Given the description of an element on the screen output the (x, y) to click on. 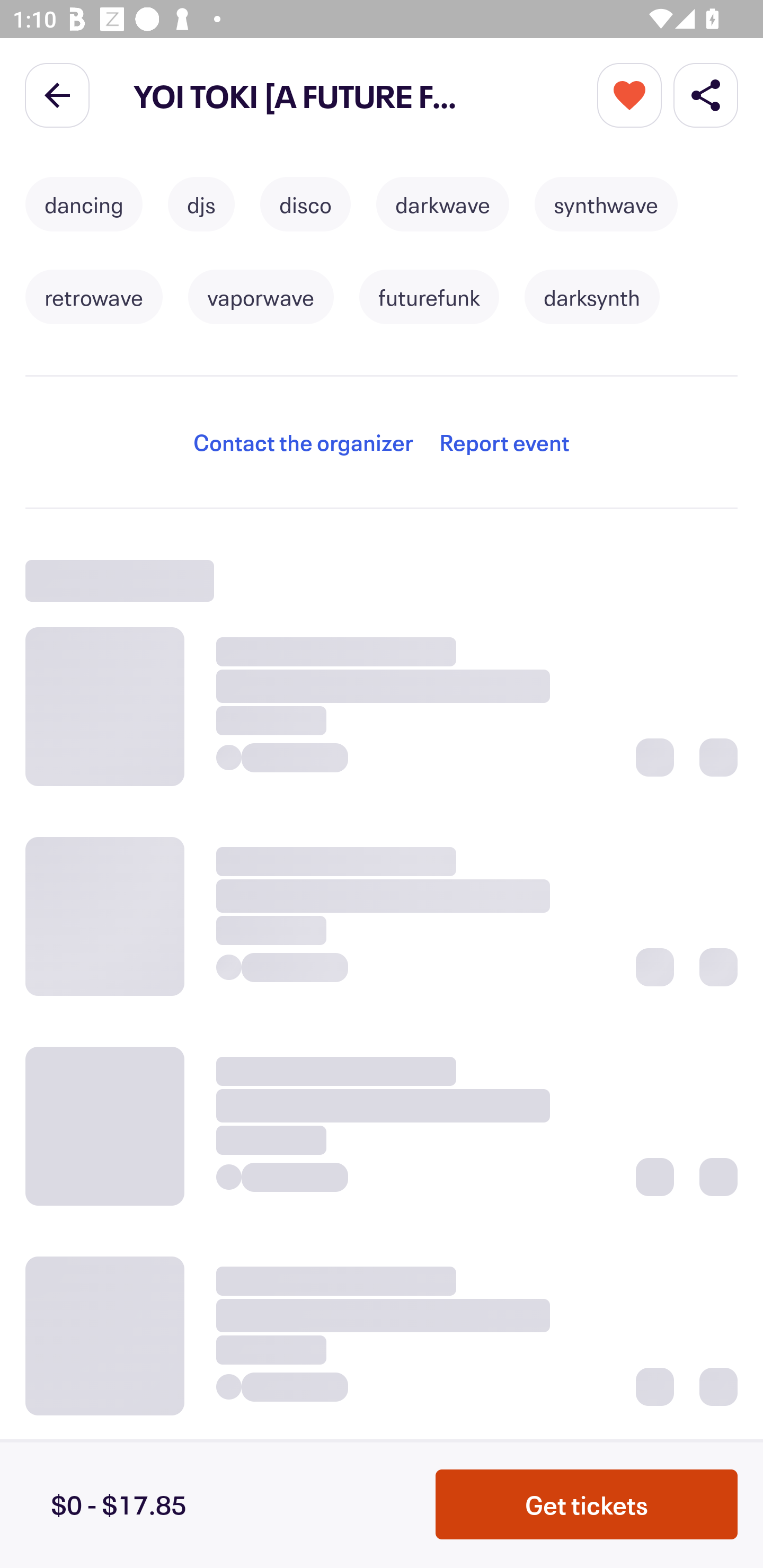
Back (57, 94)
More (629, 94)
Share (705, 94)
dancing (83, 204)
djs (201, 204)
disco (305, 204)
darkwave (442, 204)
synthwave (605, 204)
retrowave (93, 296)
vaporwave (261, 296)
futurefunk (429, 296)
darksynth (591, 296)
Contact the organizer (303, 441)
Report event (504, 441)
Get tickets (586, 1504)
